Given the description of an element on the screen output the (x, y) to click on. 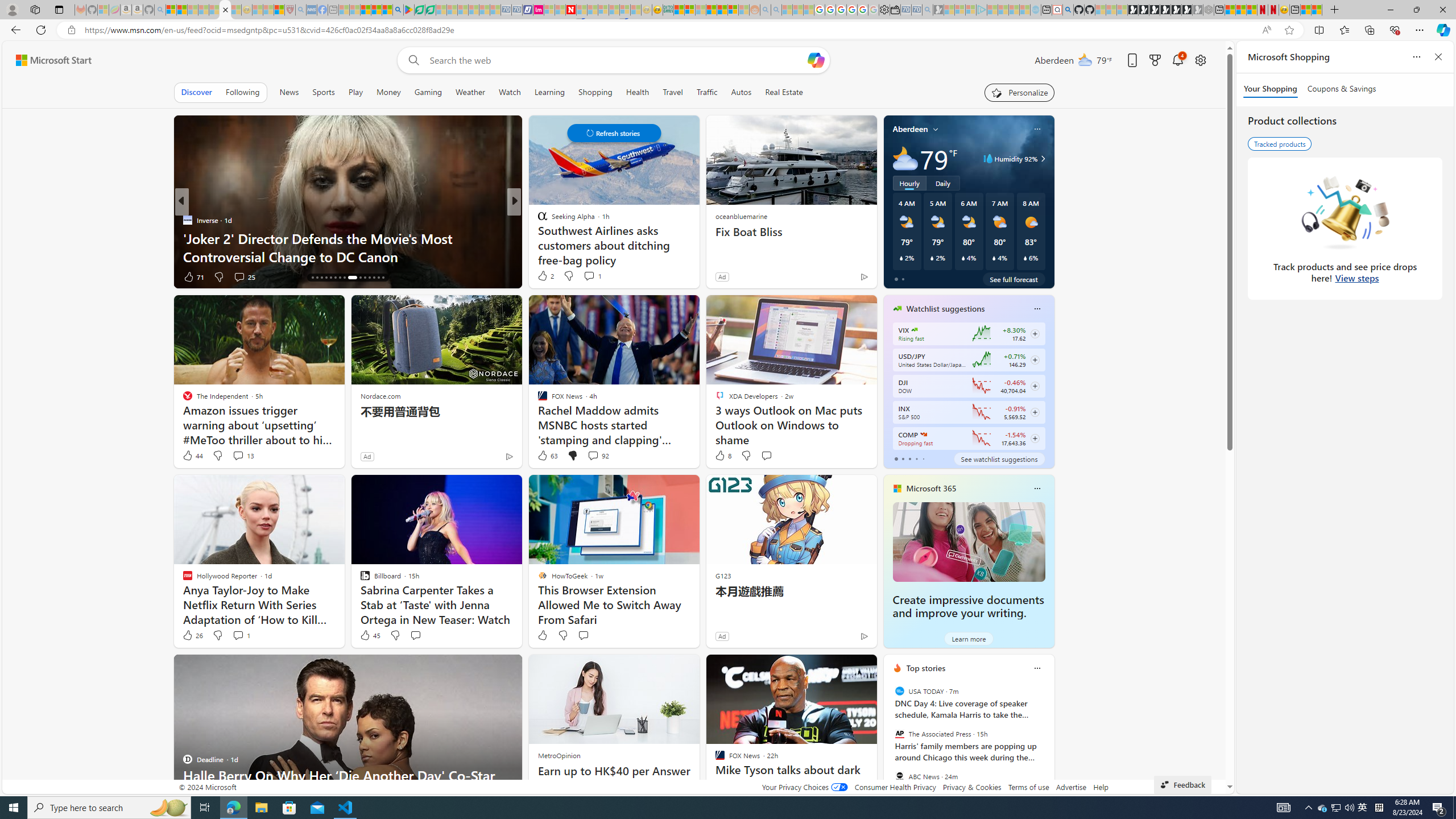
Following (242, 92)
The Washington Post (537, 219)
View comments 13 Comment (243, 455)
Nordace.com (379, 395)
Class: weather-arrow-glyph (1043, 158)
AutomationID: tab-19 (326, 277)
Humidity 92% (1040, 158)
AutomationID: tab-30 (382, 277)
